Given the description of an element on the screen output the (x, y) to click on. 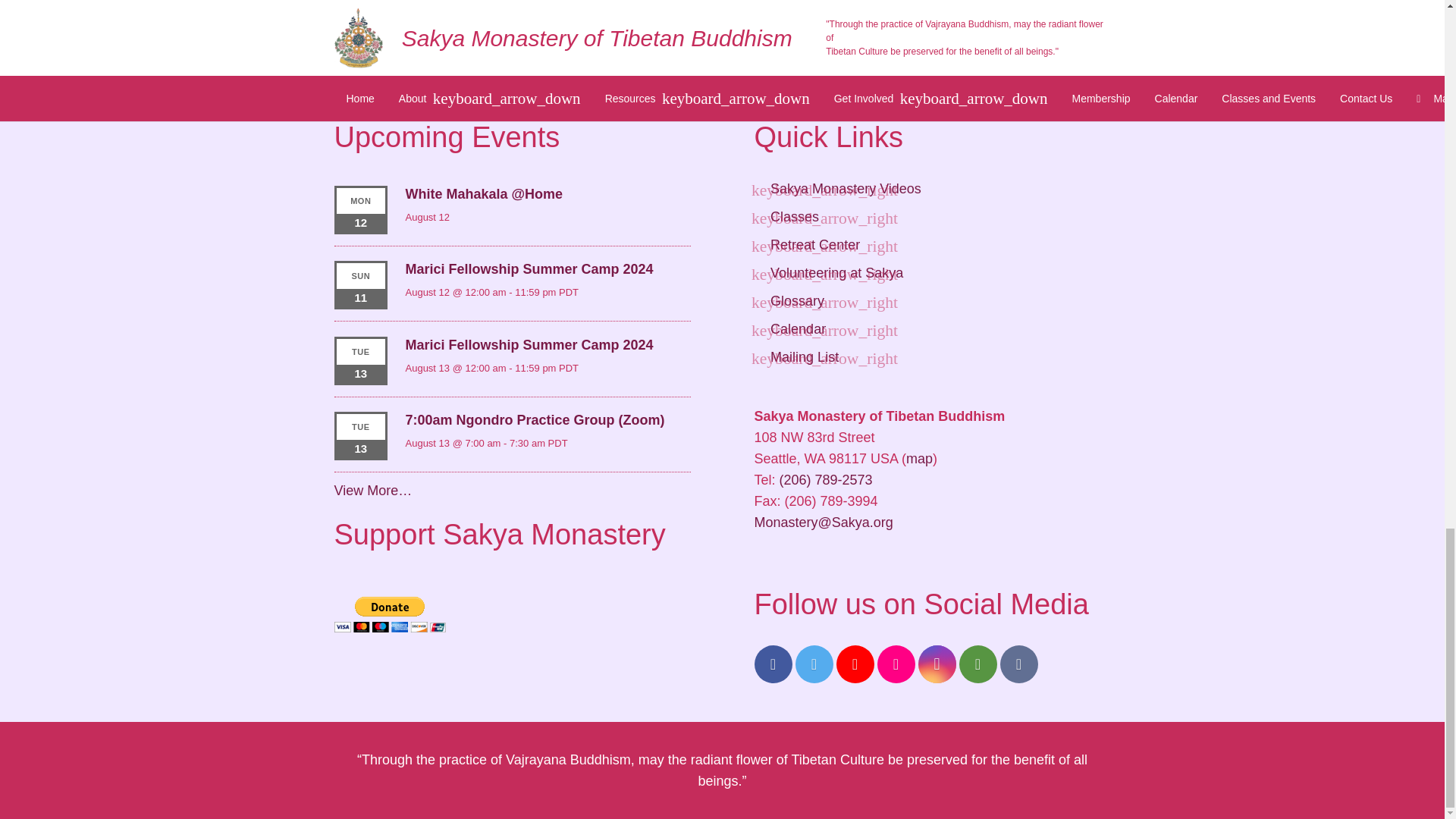
Facebook Group (1017, 664)
Facebook (773, 664)
YouTube (854, 664)
PayPal - The safer, easier way to pay online! (389, 614)
Twitter (813, 664)
Flickr (895, 664)
Instagram (936, 664)
Tripadvisor (976, 664)
